Given the description of an element on the screen output the (x, y) to click on. 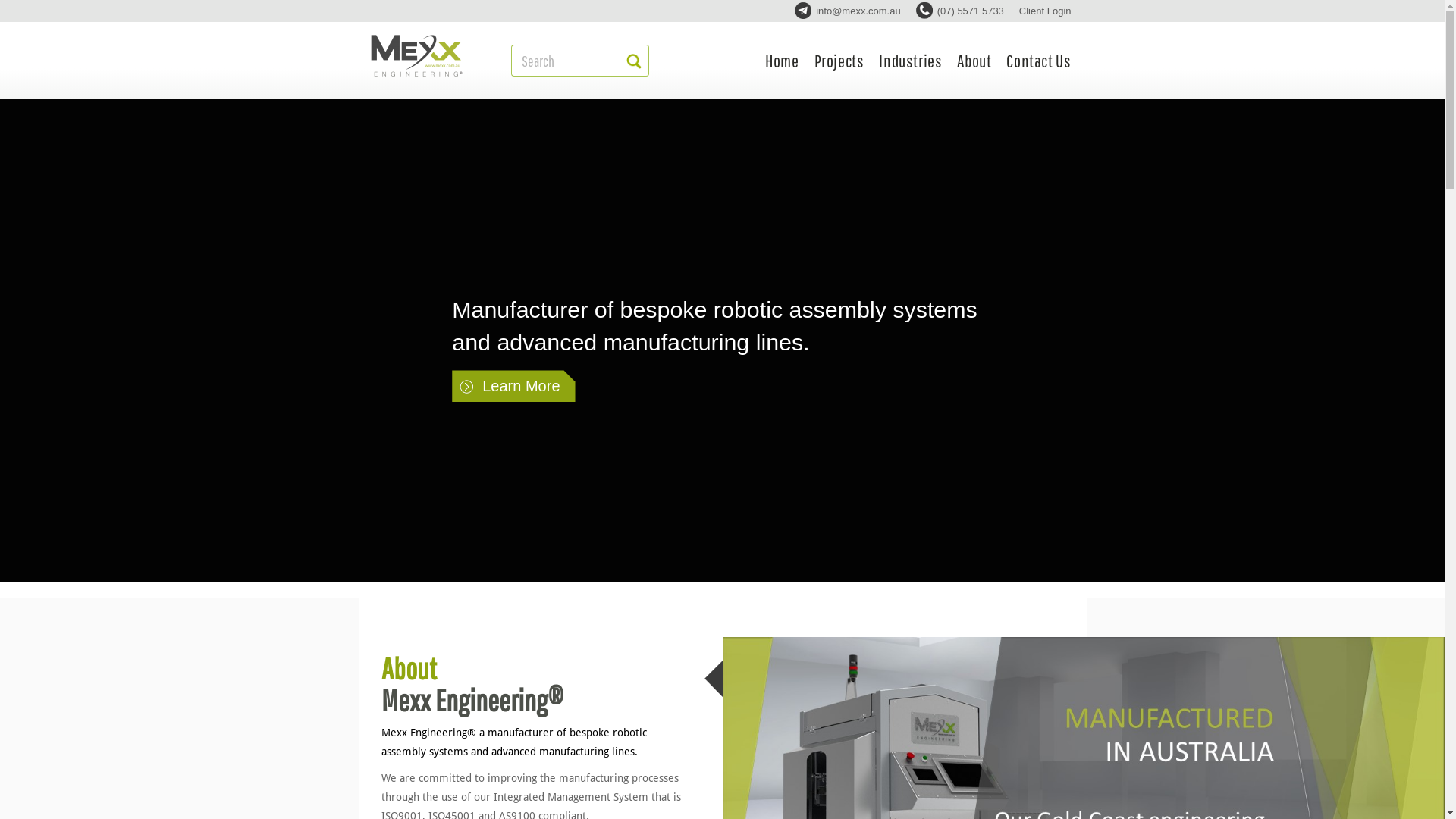
Search Element type: text (567, 60)
Projects Element type: text (839, 60)
Contact Us Element type: text (1038, 60)
Learn More Element type: text (512, 385)
Home Element type: text (781, 60)
info@mexx.com.au Element type: text (847, 10)
About Element type: text (974, 60)
Industries Element type: text (909, 60)
(07) 5571 5733 Element type: text (960, 10)
Client Login Element type: text (1045, 10)
